Given the description of an element on the screen output the (x, y) to click on. 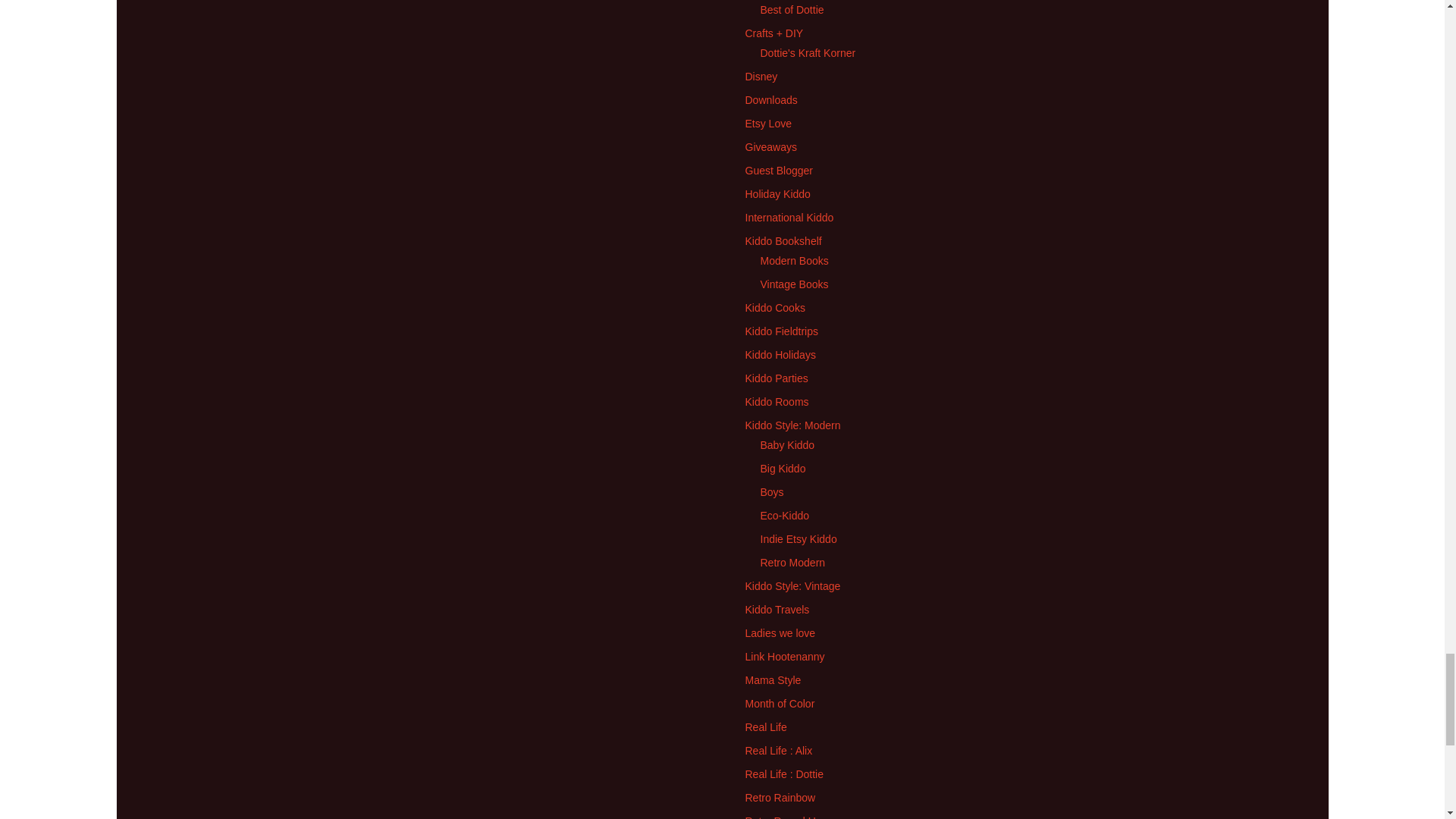
Giveaways (770, 146)
Etsy Love (767, 123)
Modern Books (794, 260)
Disney (760, 76)
Kiddo Bookshelf (782, 241)
Kiddo Cooks (774, 307)
Dottie's Kraft Korner (808, 52)
Best of Dottie (792, 9)
Guest Blogger (778, 170)
International Kiddo (788, 217)
Holiday Kiddo (776, 193)
Downloads (770, 100)
Vintage Books (794, 284)
